Given the description of an element on the screen output the (x, y) to click on. 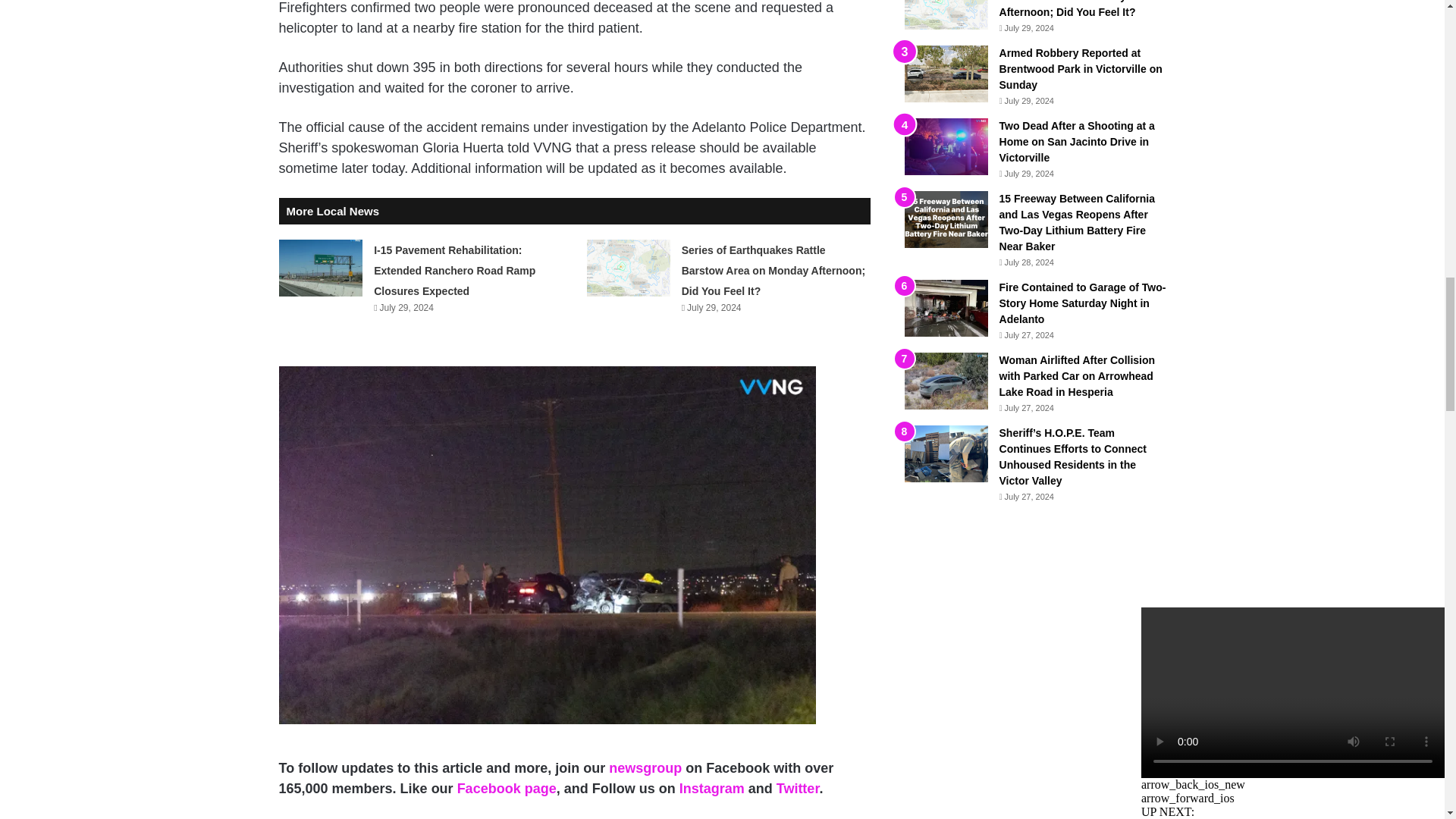
Facebook page (506, 788)
Instagram (711, 788)
newsgroup (644, 767)
